Given the description of an element on the screen output the (x, y) to click on. 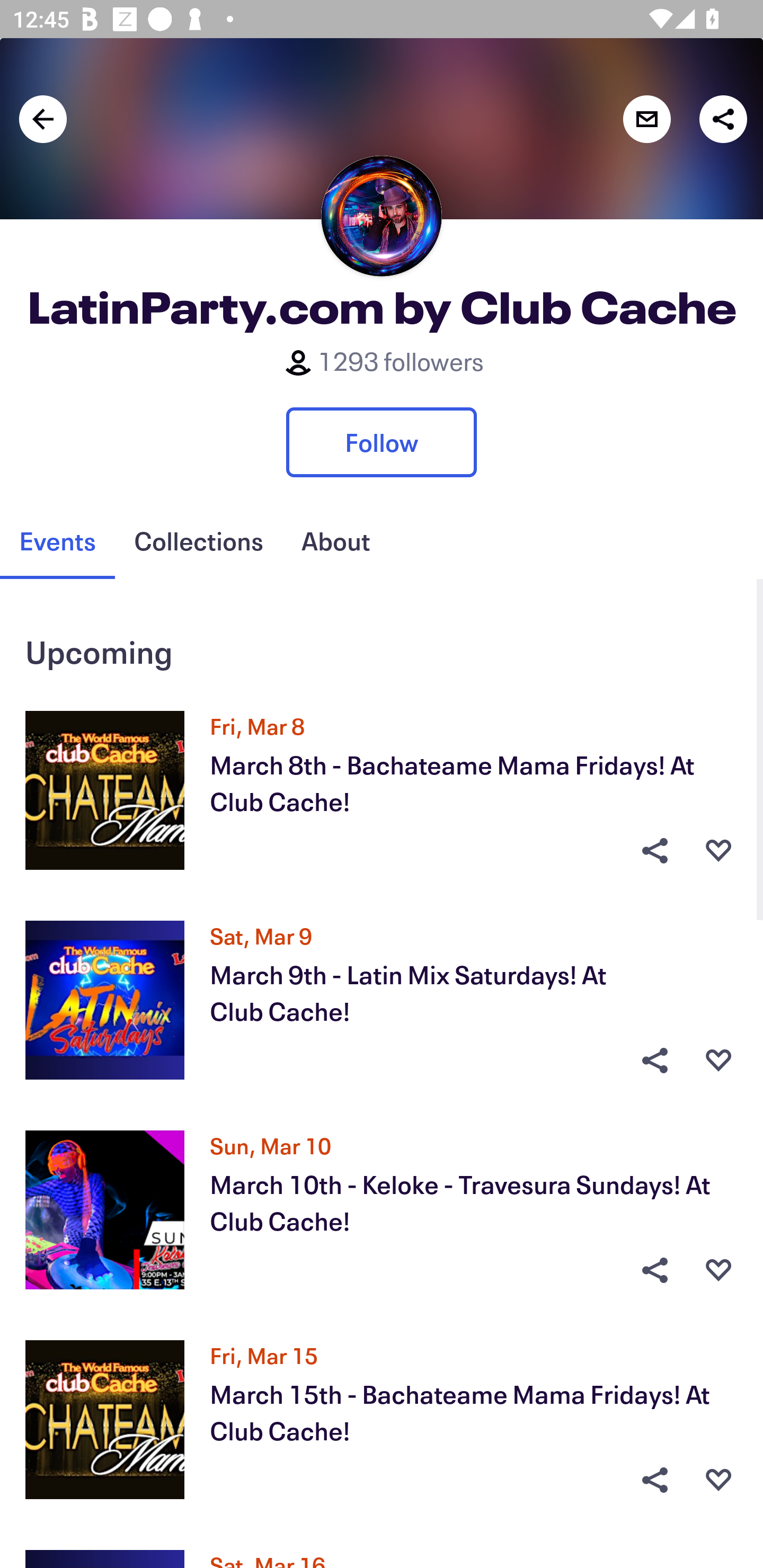
Back navigation arrow (43, 118)
Contact organizer (646, 118)
Share with friends (722, 118)
Follow (381, 441)
Collections (198, 540)
About (335, 540)
Share Event (654, 850)
Like event (718, 850)
Share Event (654, 1060)
Like event (718, 1060)
Share Event (654, 1269)
Like event (718, 1269)
Share Event (654, 1480)
Like event (718, 1480)
